Given the description of an element on the screen output the (x, y) to click on. 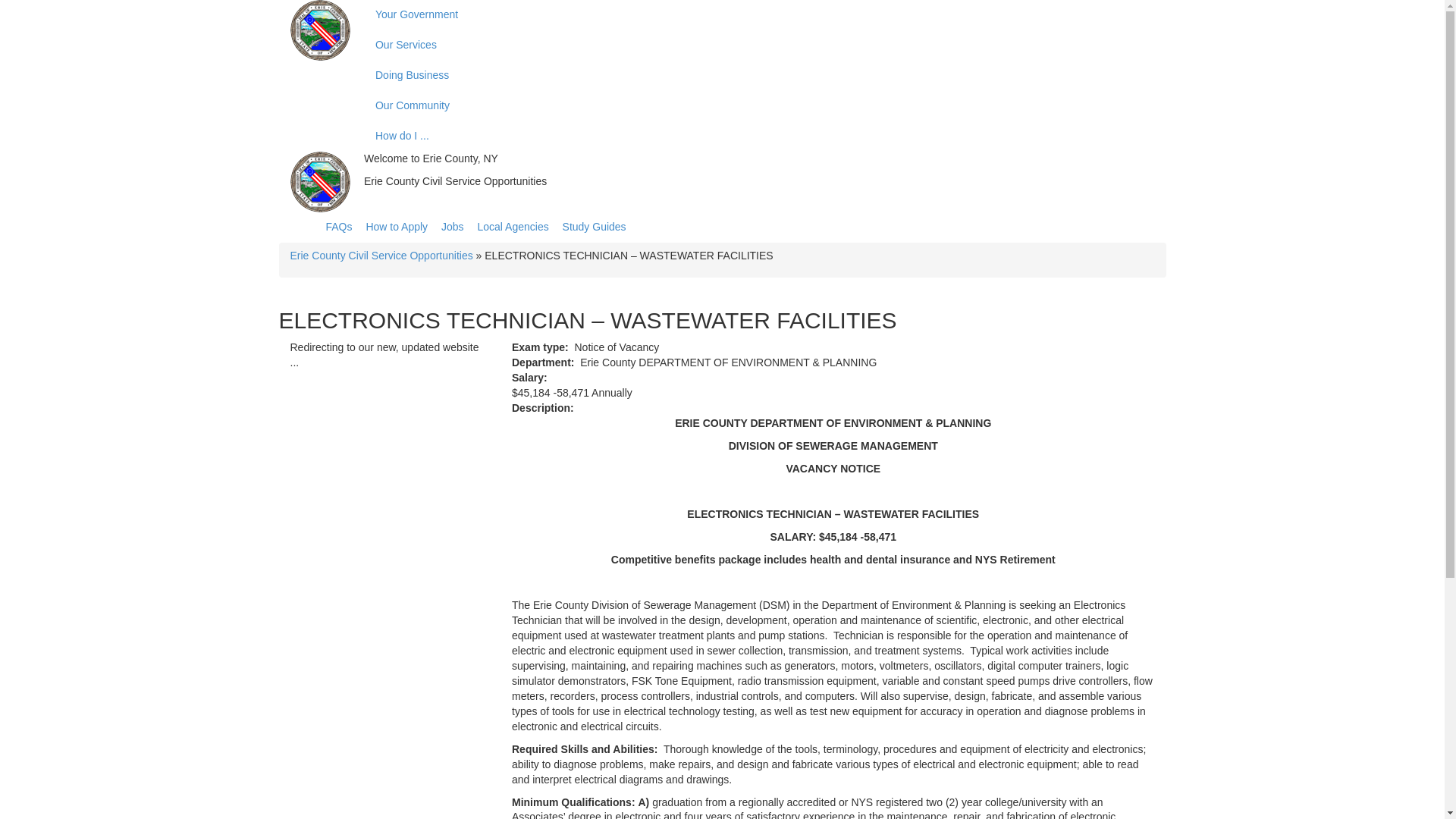
FAQs (339, 226)
Erie County Civil Service Opportunities (380, 255)
How to Apply (396, 226)
How do I ... (685, 136)
Erie.gov homepage (319, 30)
Our Services (685, 45)
Your Government (685, 15)
Jobs (452, 226)
Our Community (685, 105)
Doing Business (685, 75)
